Given the description of an element on the screen output the (x, y) to click on. 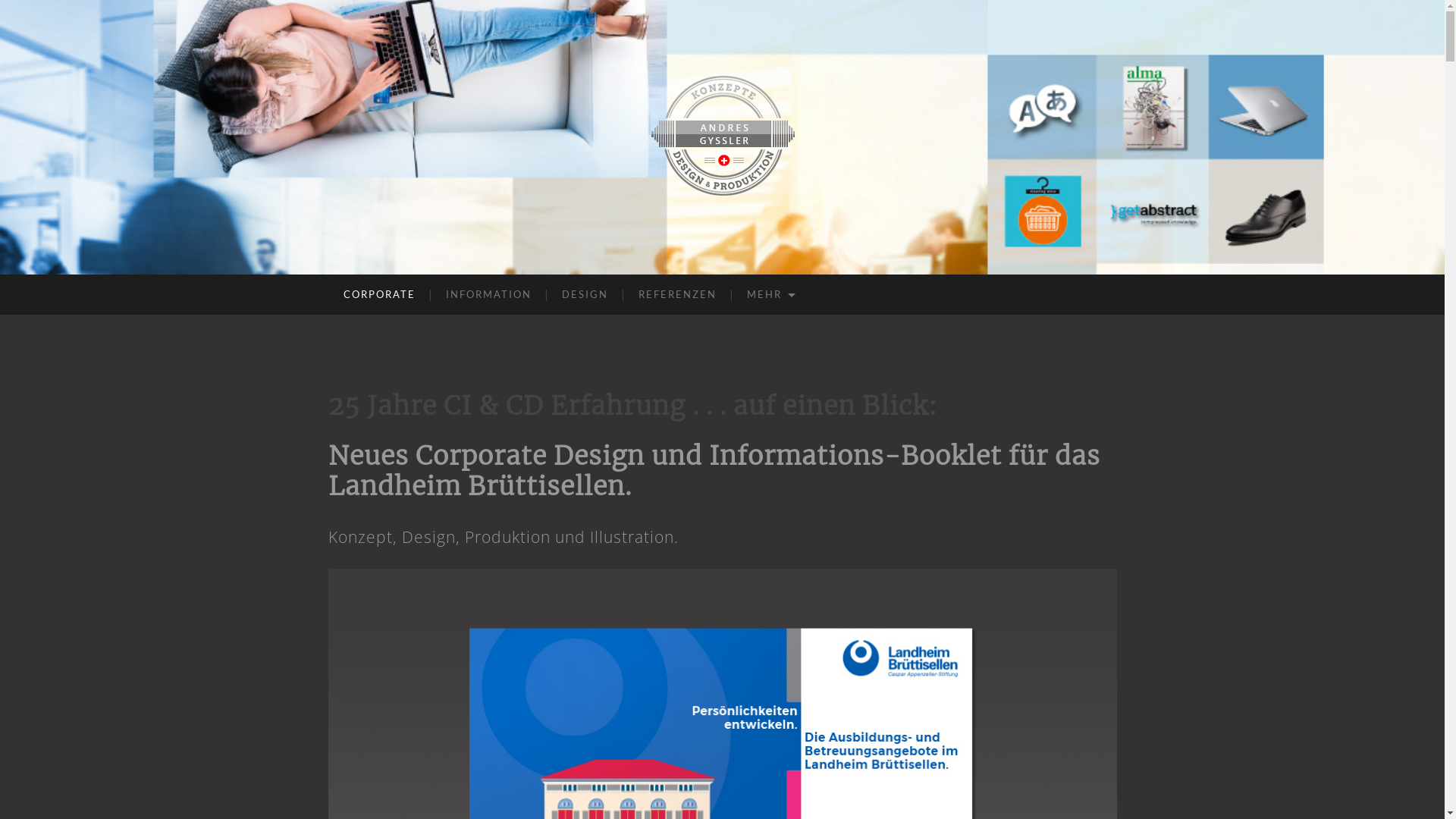
INFORMATION Element type: text (488, 294)
REFERENZEN Element type: text (677, 294)
DESIGN Element type: text (584, 294)
MEHR Element type: text (769, 294)
CORPORATE Element type: text (378, 294)
